Given the description of an element on the screen output the (x, y) to click on. 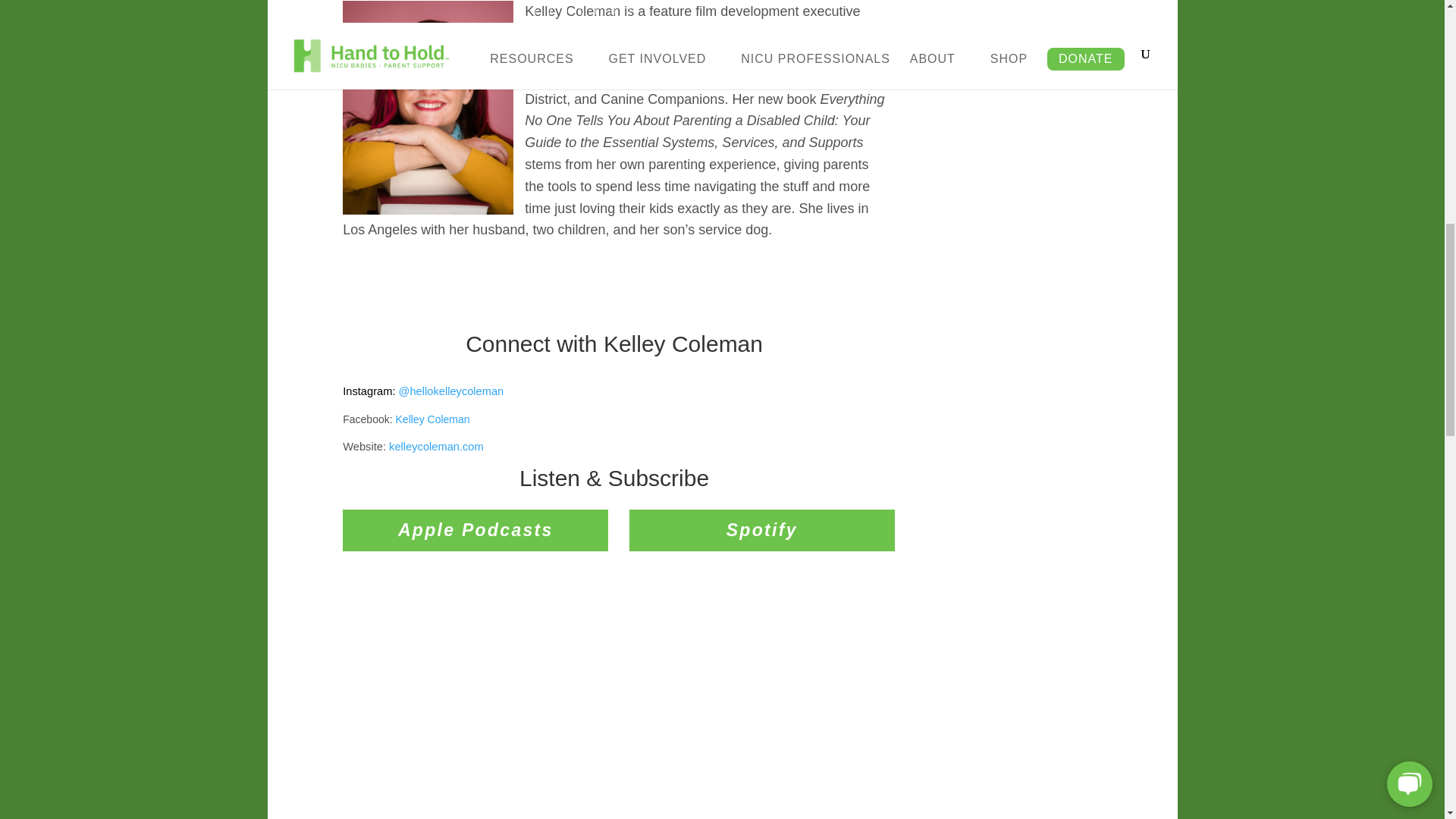
YouTube video player (613, 697)
